Given the description of an element on the screen output the (x, y) to click on. 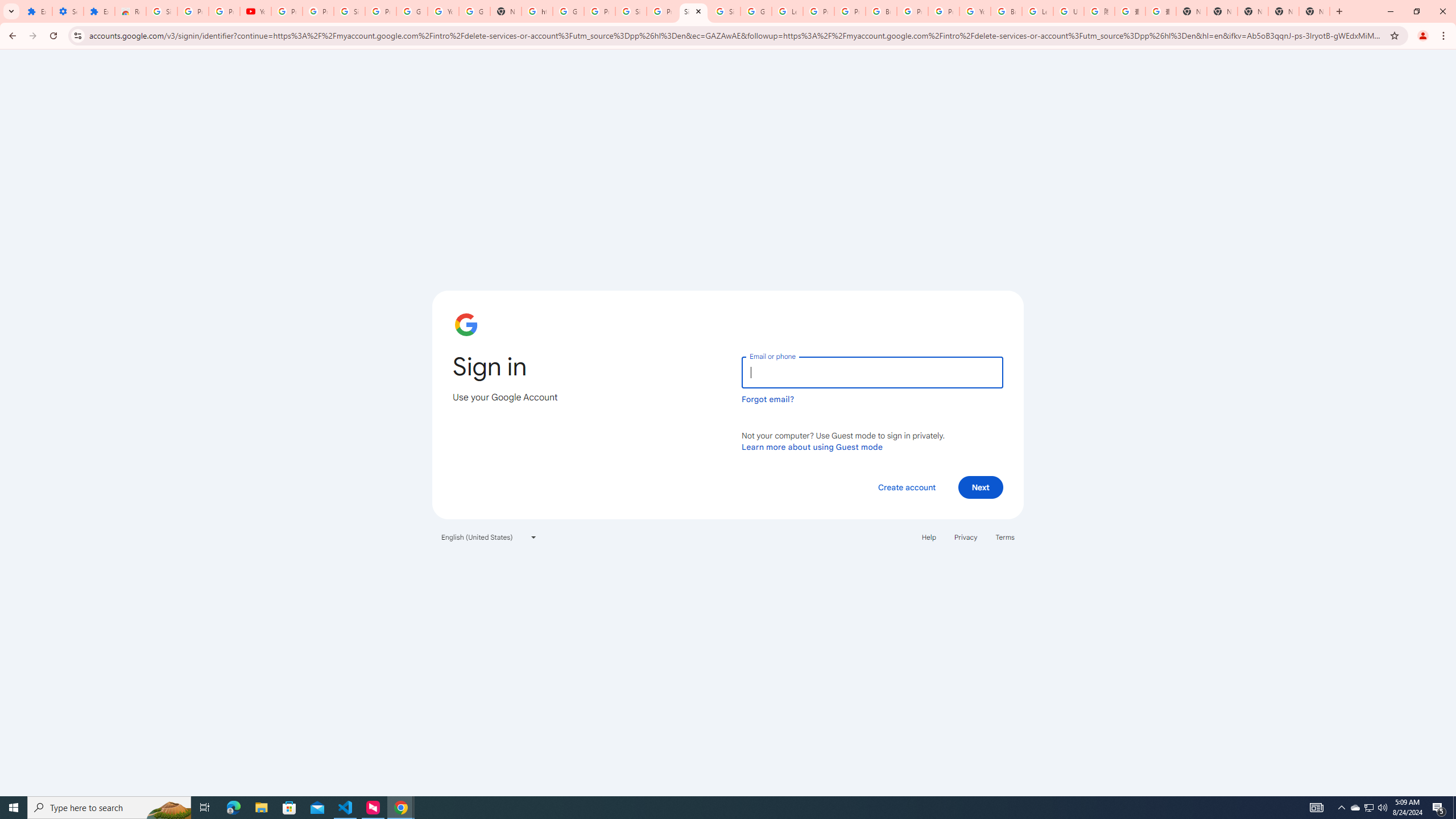
Sign in - Google Accounts (724, 11)
New Tab (1314, 11)
Reviews: Helix Fruit Jump Arcade Game (130, 11)
Privacy Help Center - Policies Help (818, 11)
